Given the description of an element on the screen output the (x, y) to click on. 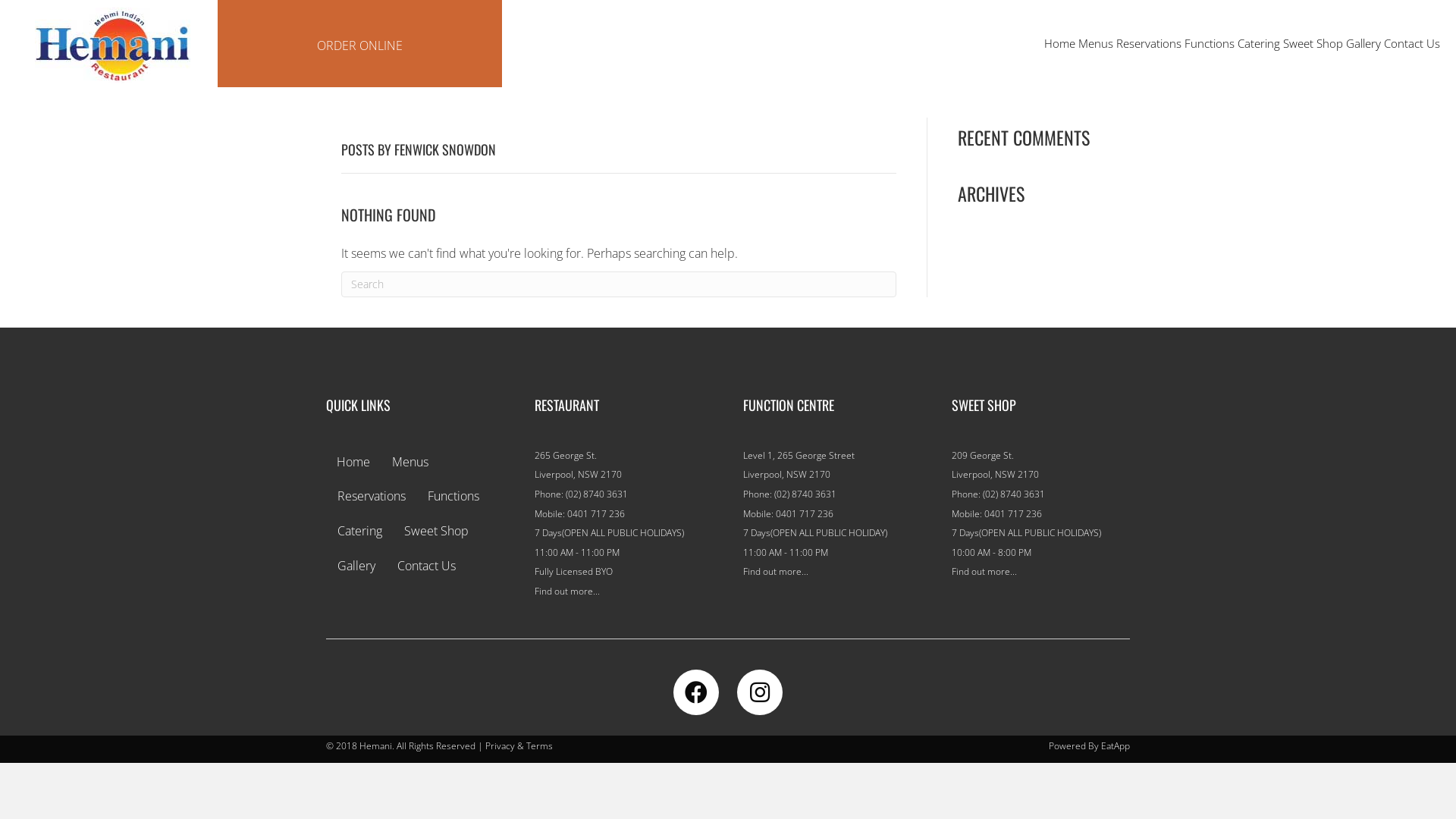
Home Element type: text (1059, 43)
Type and press Enter to search. Element type: hover (618, 284)
Contact Us Element type: text (426, 566)
Menus Element type: text (1095, 43)
Catering Element type: text (359, 531)
Menus Element type: text (410, 462)
Instagram Element type: hover (759, 692)
Gallery Element type: text (355, 566)
Functions Element type: text (1209, 43)
Privacy & Terms Element type: text (518, 745)
Facebook Element type: hover (695, 692)
Functions Element type: text (453, 496)
Reservations Element type: text (371, 496)
Find out more... Element type: text (775, 570)
EatApp Element type: text (1115, 745)
Find out more... Element type: text (983, 570)
Sweet Shop Element type: text (436, 531)
logo-100px Element type: hover (112, 45)
Find out more... Element type: text (566, 590)
Home Element type: text (353, 462)
Reservations Element type: text (1148, 43)
Contact Us Element type: text (1411, 43)
Sweet Shop Element type: text (1312, 43)
Gallery Element type: text (1363, 43)
Catering Element type: text (1258, 43)
